Given the description of an element on the screen output the (x, y) to click on. 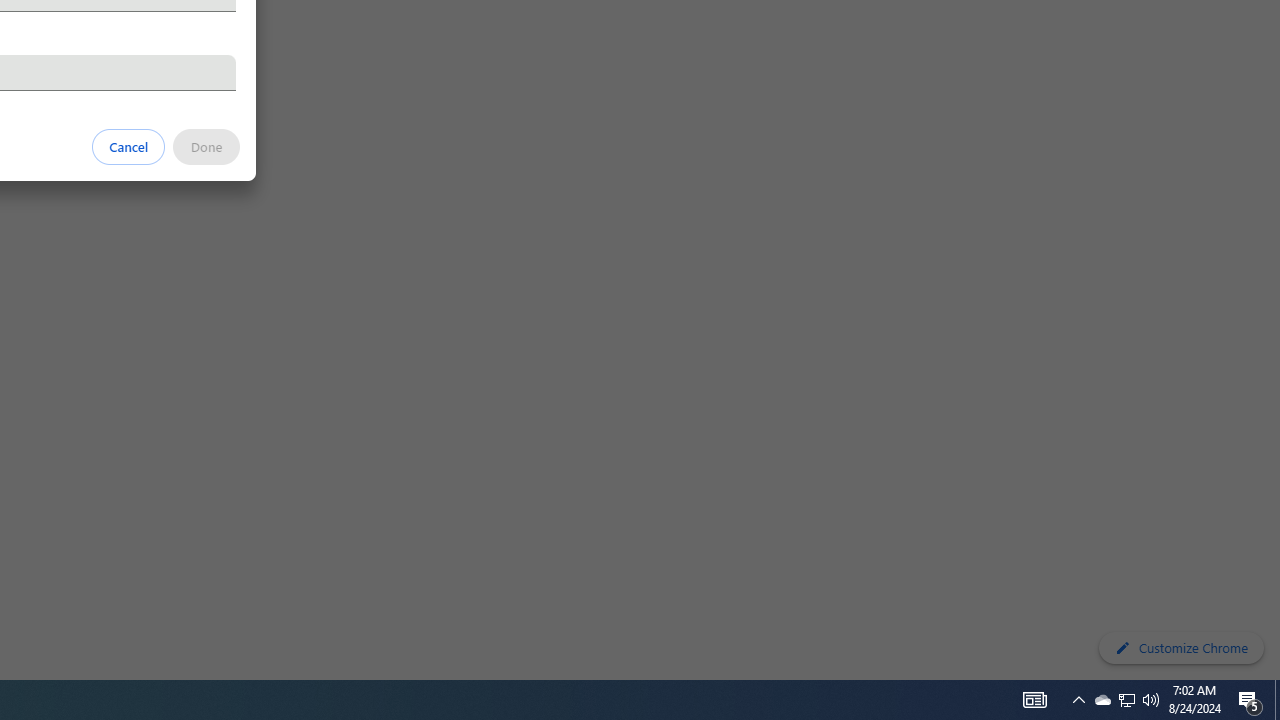
AutomationID: 4105 (1034, 699)
Action Center, 5 new notifications (1250, 699)
Q2790: 100% (1151, 699)
Show desktop (1277, 699)
User Promoted Notification Area (1126, 699)
Notification Chevron (1126, 699)
Done (1078, 699)
Cancel (206, 146)
